Given the description of an element on the screen output the (x, y) to click on. 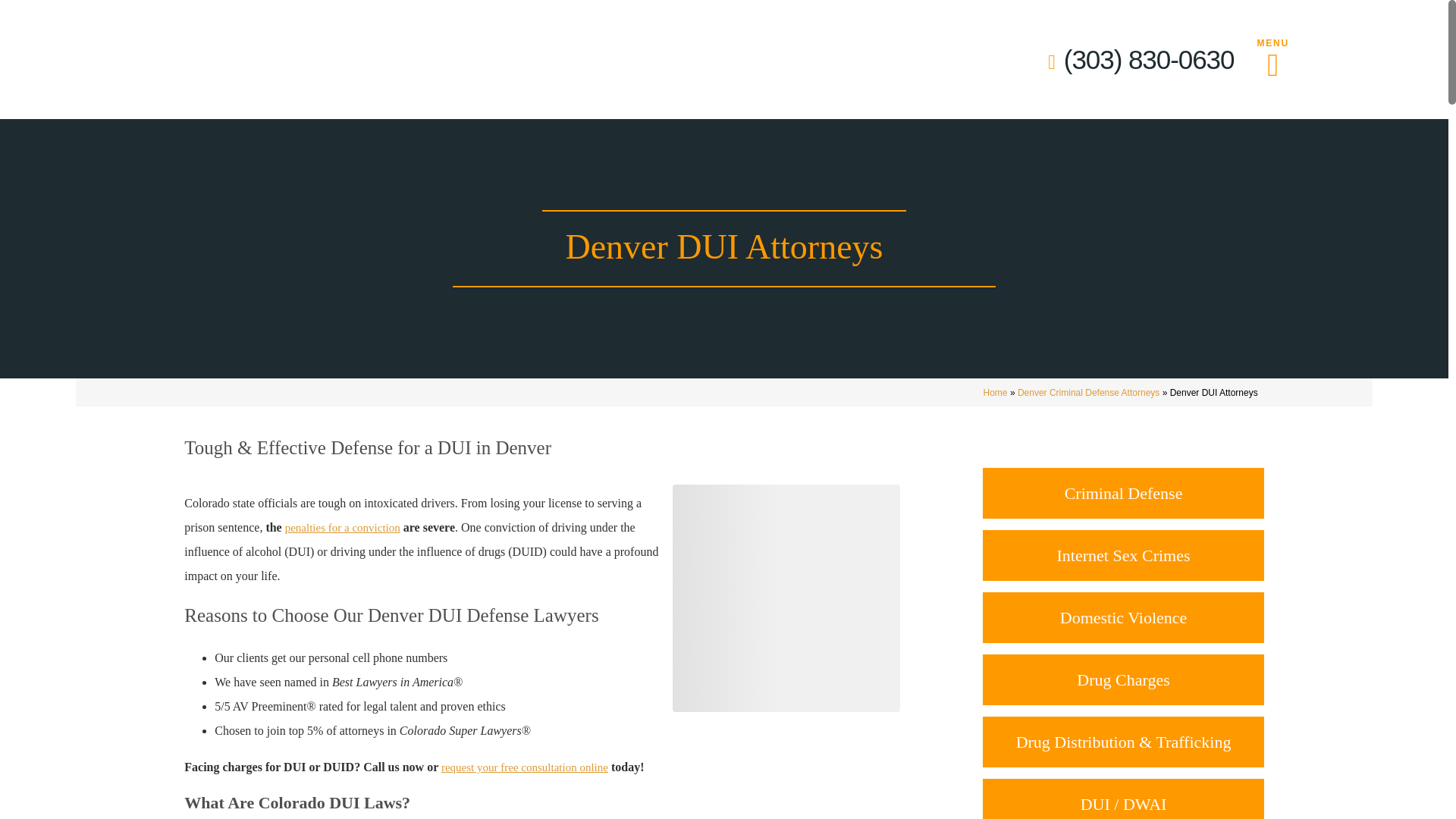
MENU (1260, 59)
penalties for a conviction (342, 527)
request your free consultation online (524, 767)
Denver Criminal Defense Attorneys (1087, 392)
Home (995, 392)
